Given the description of an element on the screen output the (x, y) to click on. 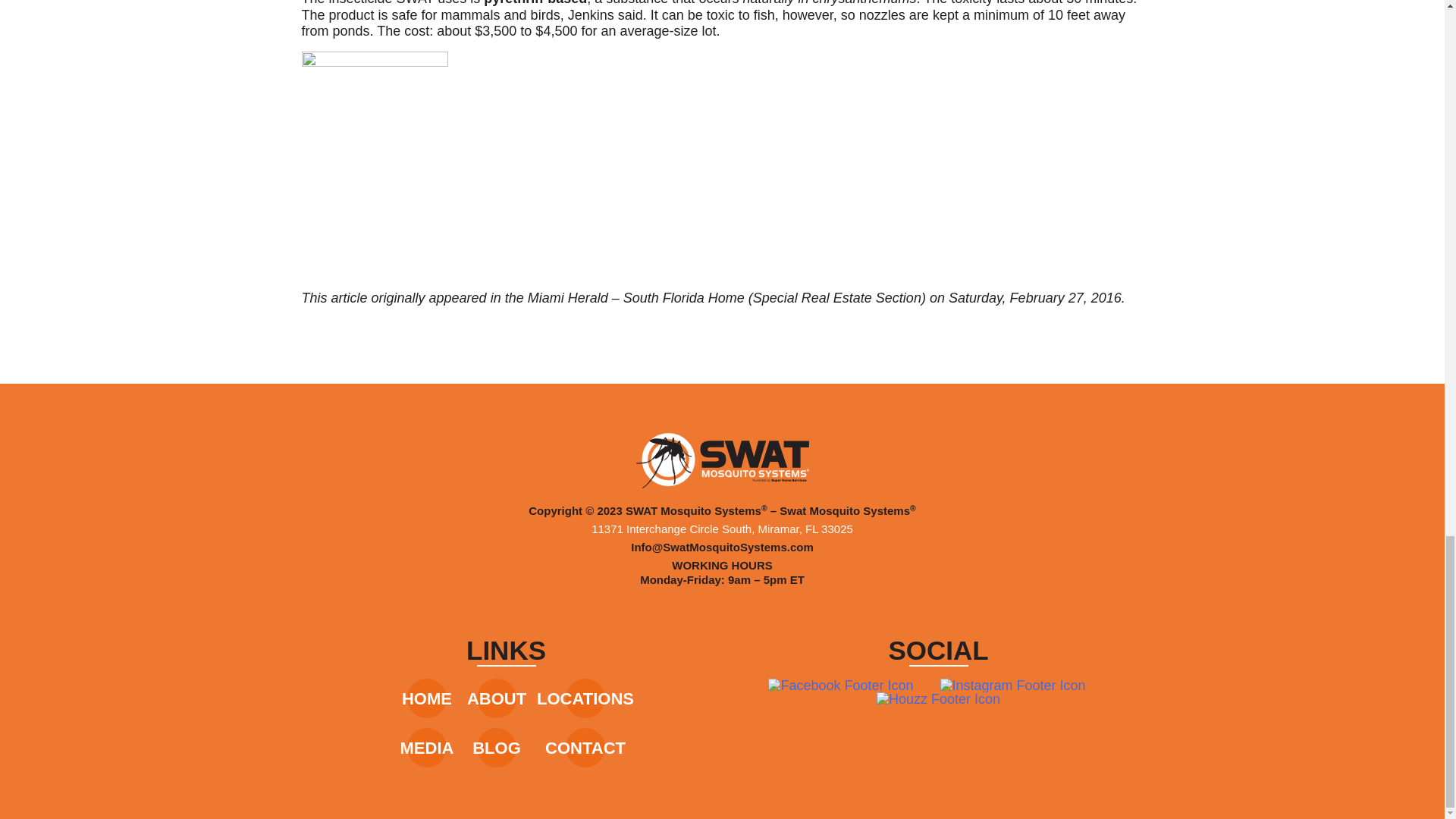
HOME (426, 698)
BLOG (496, 747)
MEDIA (427, 747)
ABOUT (496, 698)
LOCATIONS (585, 698)
CONTACT (585, 747)
